Given the description of an element on the screen output the (x, y) to click on. 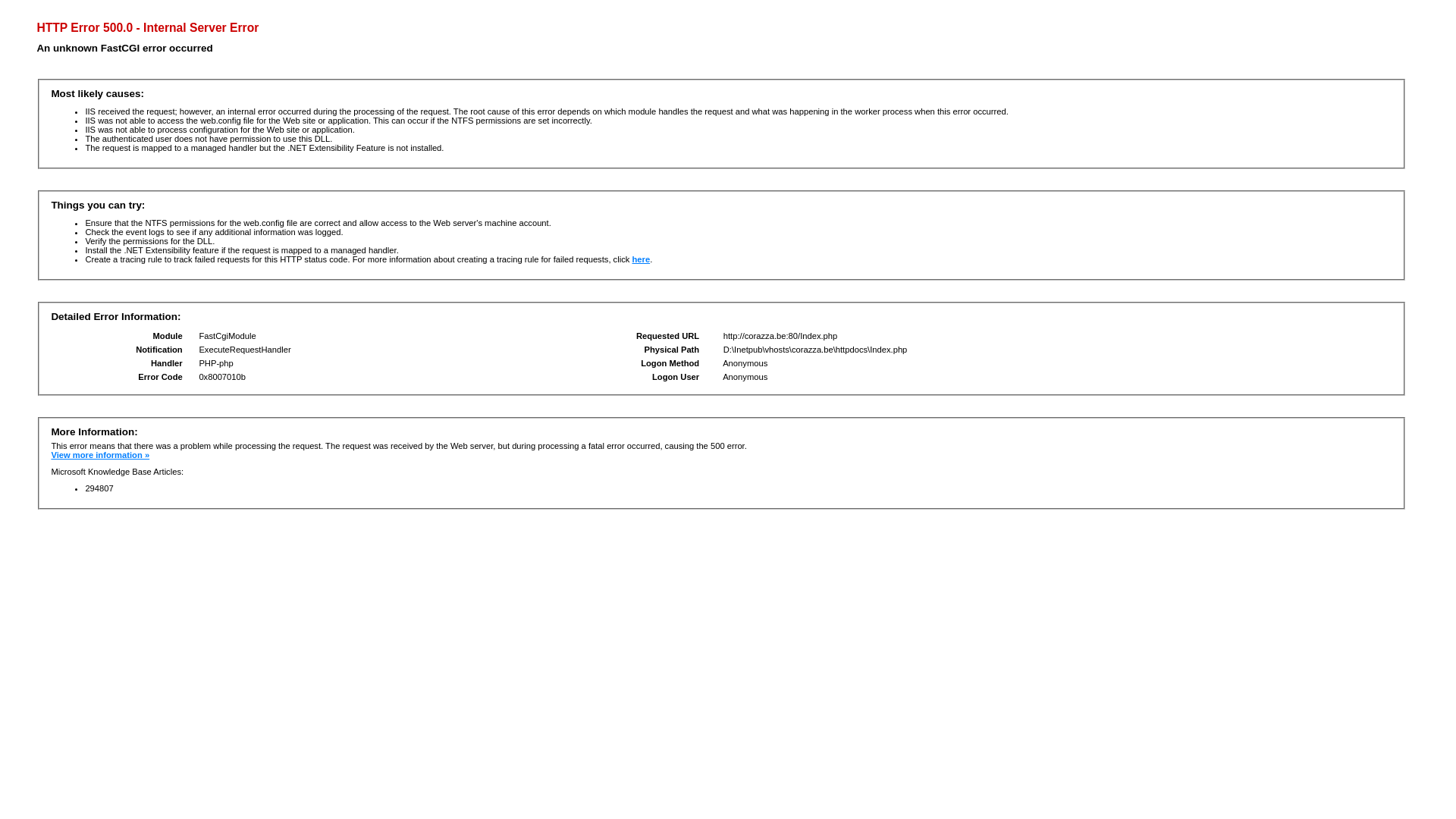
here Element type: text (640, 258)
